Given the description of an element on the screen output the (x, y) to click on. 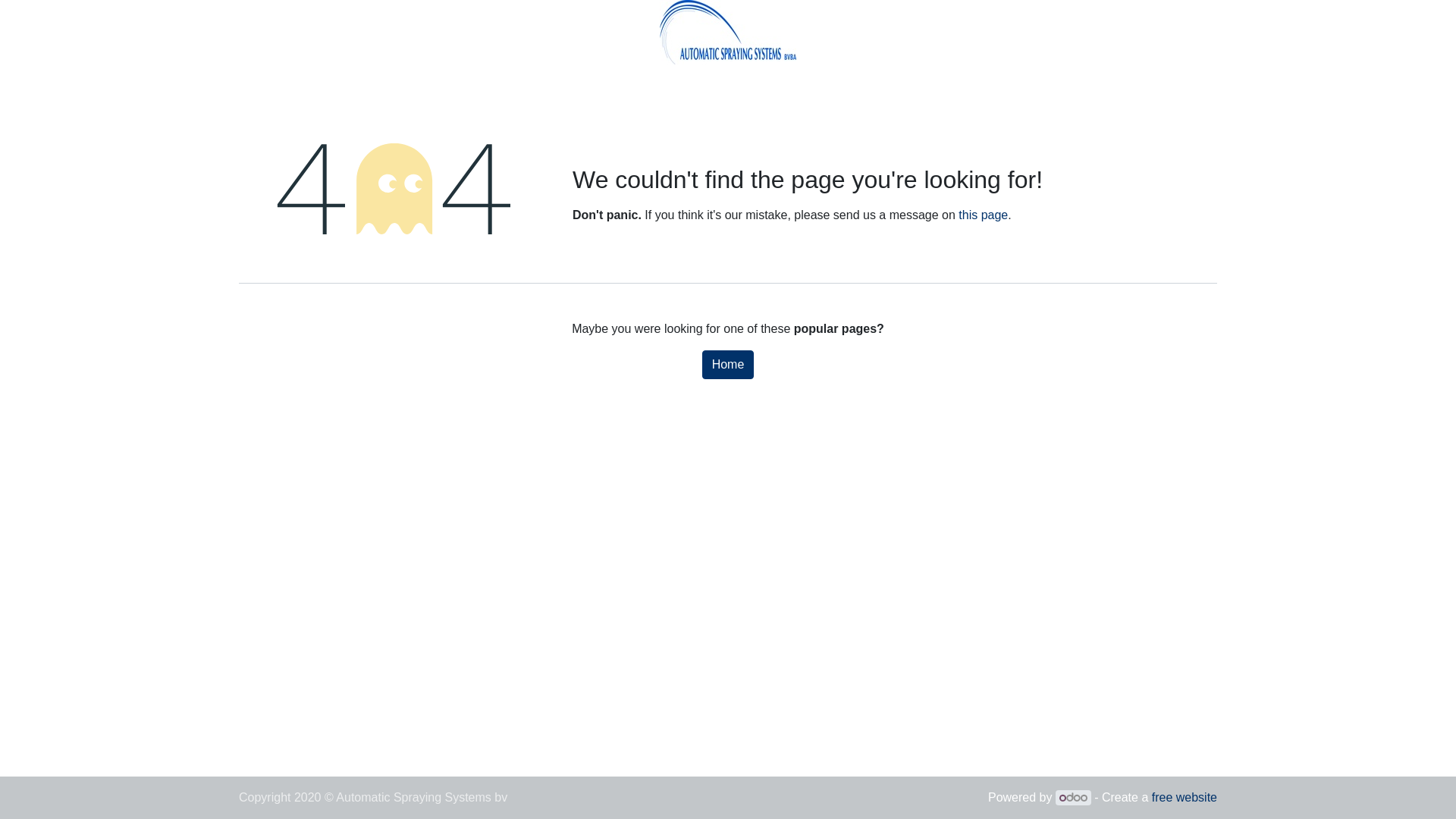
free website Element type: text (1184, 796)
Home Element type: text (728, 364)
this page Element type: text (982, 214)
